Given the description of an element on the screen output the (x, y) to click on. 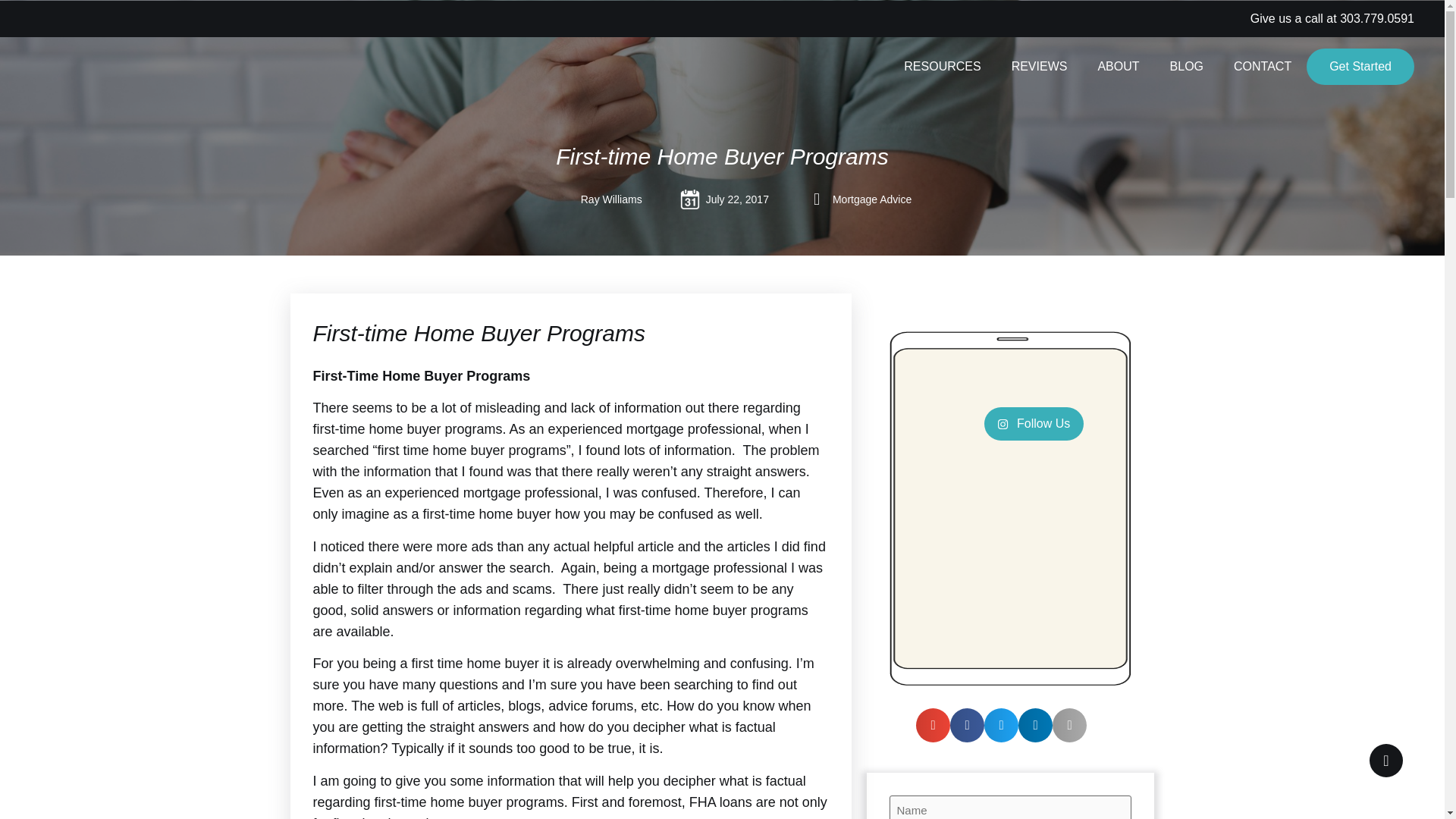
RESOURCES (941, 66)
Get Started (1359, 66)
CONTACT (1262, 66)
BLOG (1186, 66)
303.779.0591 (1376, 18)
REVIEWS (1039, 66)
ABOUT (1117, 66)
